Given the description of an element on the screen output the (x, y) to click on. 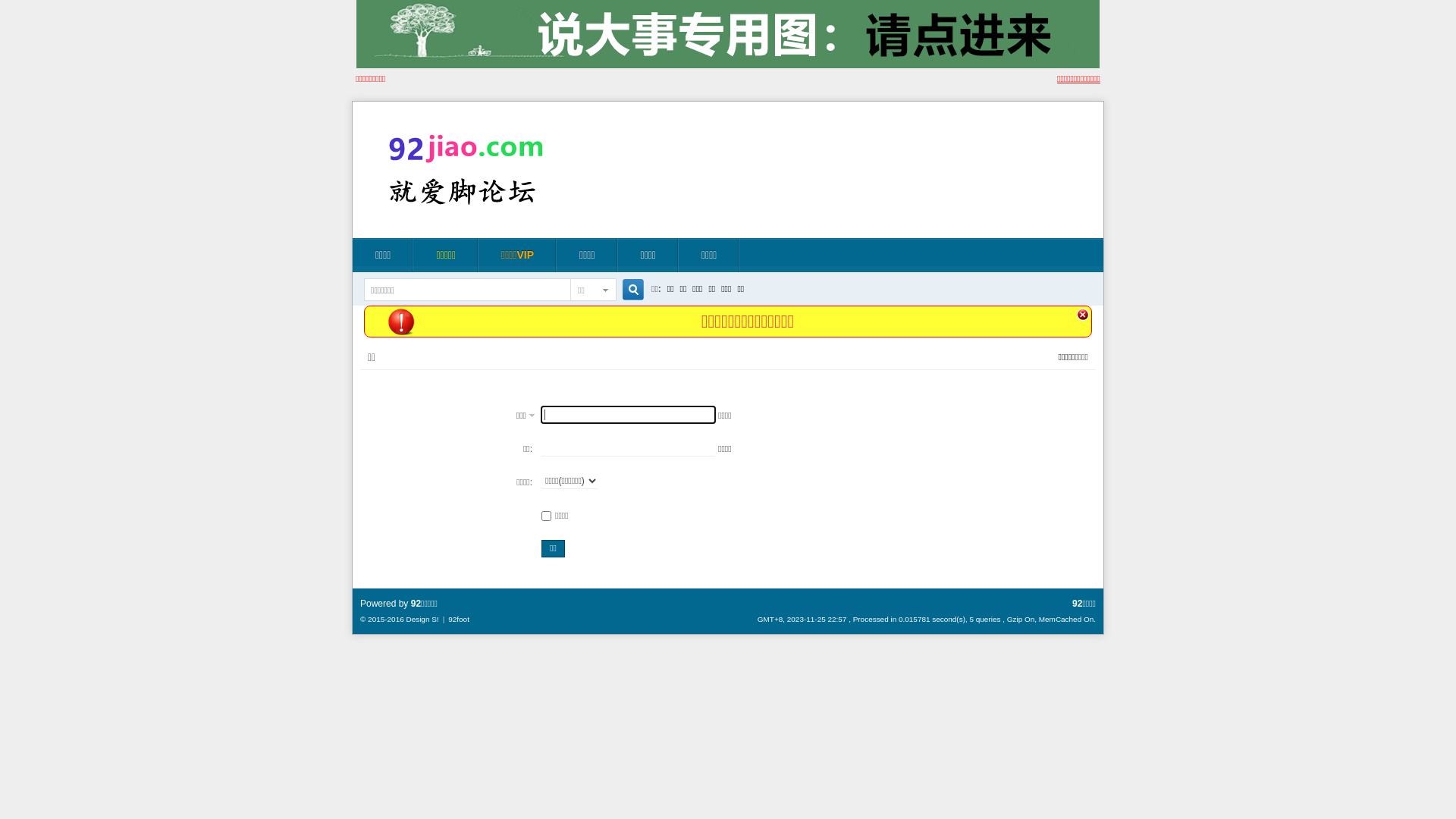
true Element type: text (627, 289)
92foot Element type: text (458, 619)
S! Element type: text (434, 619)
